Given the description of an element on the screen output the (x, y) to click on. 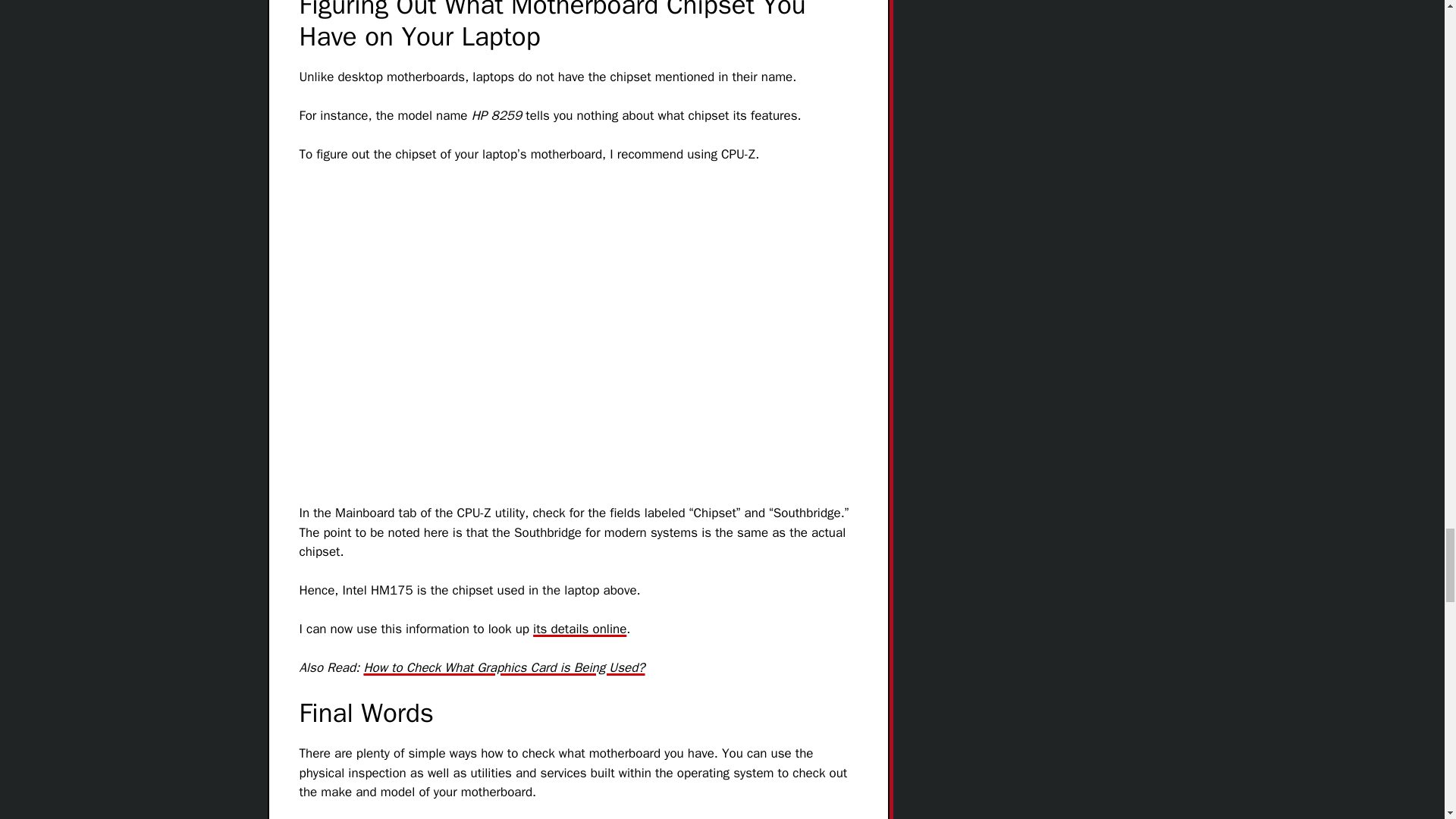
How to Check What Graphics Card is Being Used? (503, 667)
its details online (579, 628)
